Given the description of an element on the screen output the (x, y) to click on. 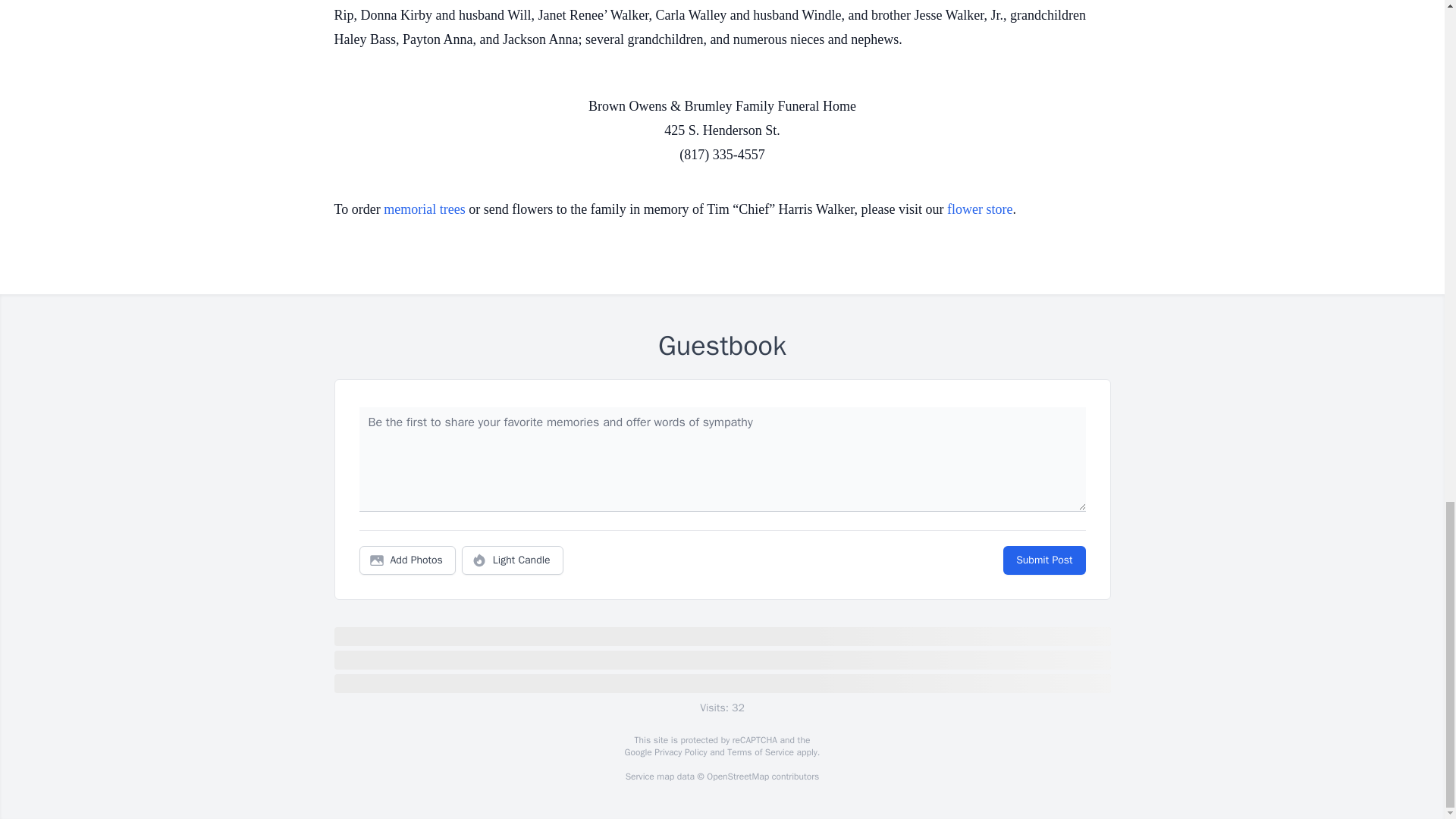
memorial trees (424, 209)
OpenStreetMap (737, 776)
Add Photos (407, 560)
Terms of Service (759, 752)
Light Candle (512, 560)
Submit Post (1043, 560)
flower store (979, 209)
Privacy Policy (679, 752)
